Given the description of an element on the screen output the (x, y) to click on. 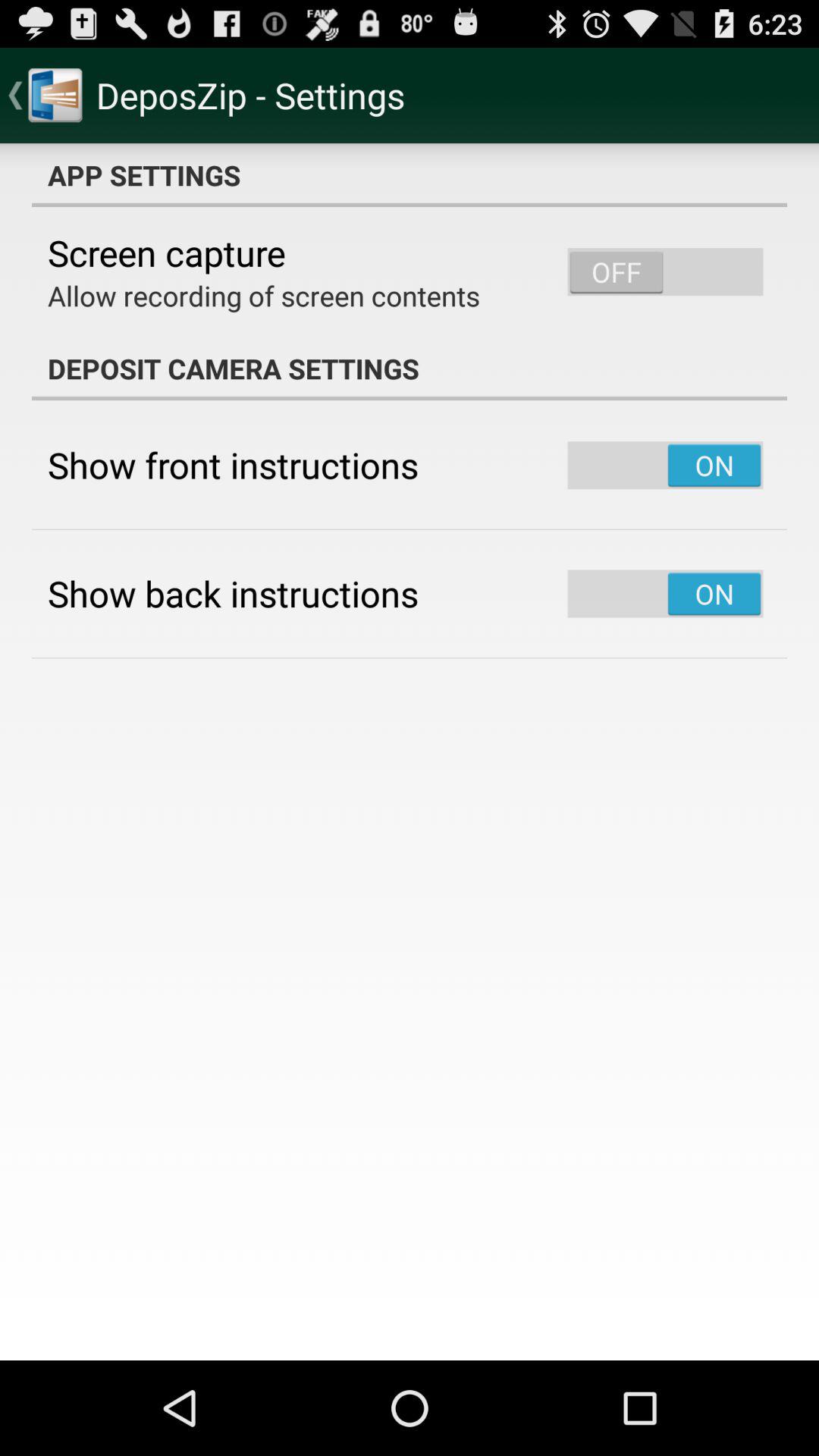
scroll to screen capture (166, 252)
